Given the description of an element on the screen output the (x, y) to click on. 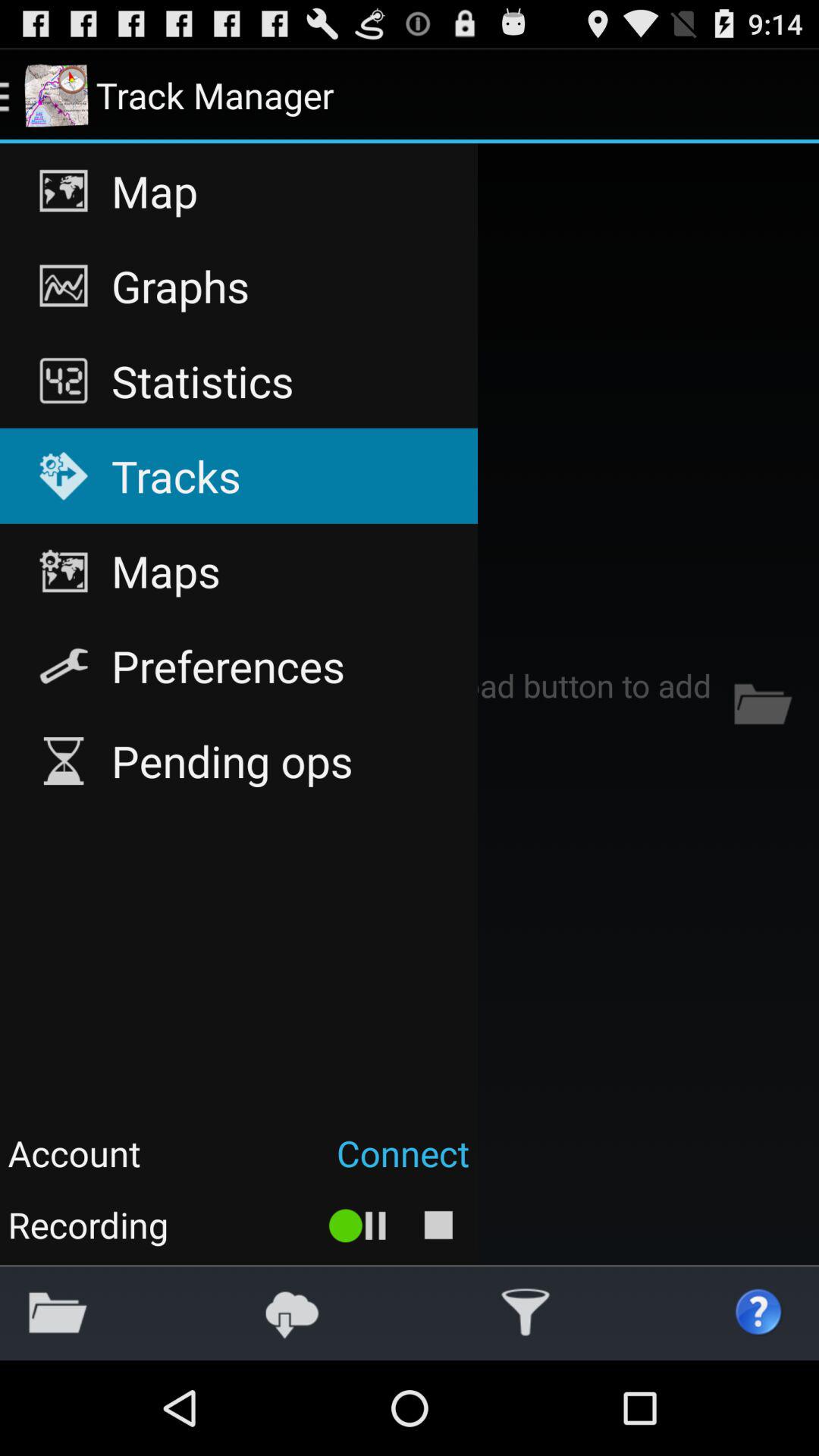
choose the icon next to the account item (312, 1152)
